Given the description of an element on the screen output the (x, y) to click on. 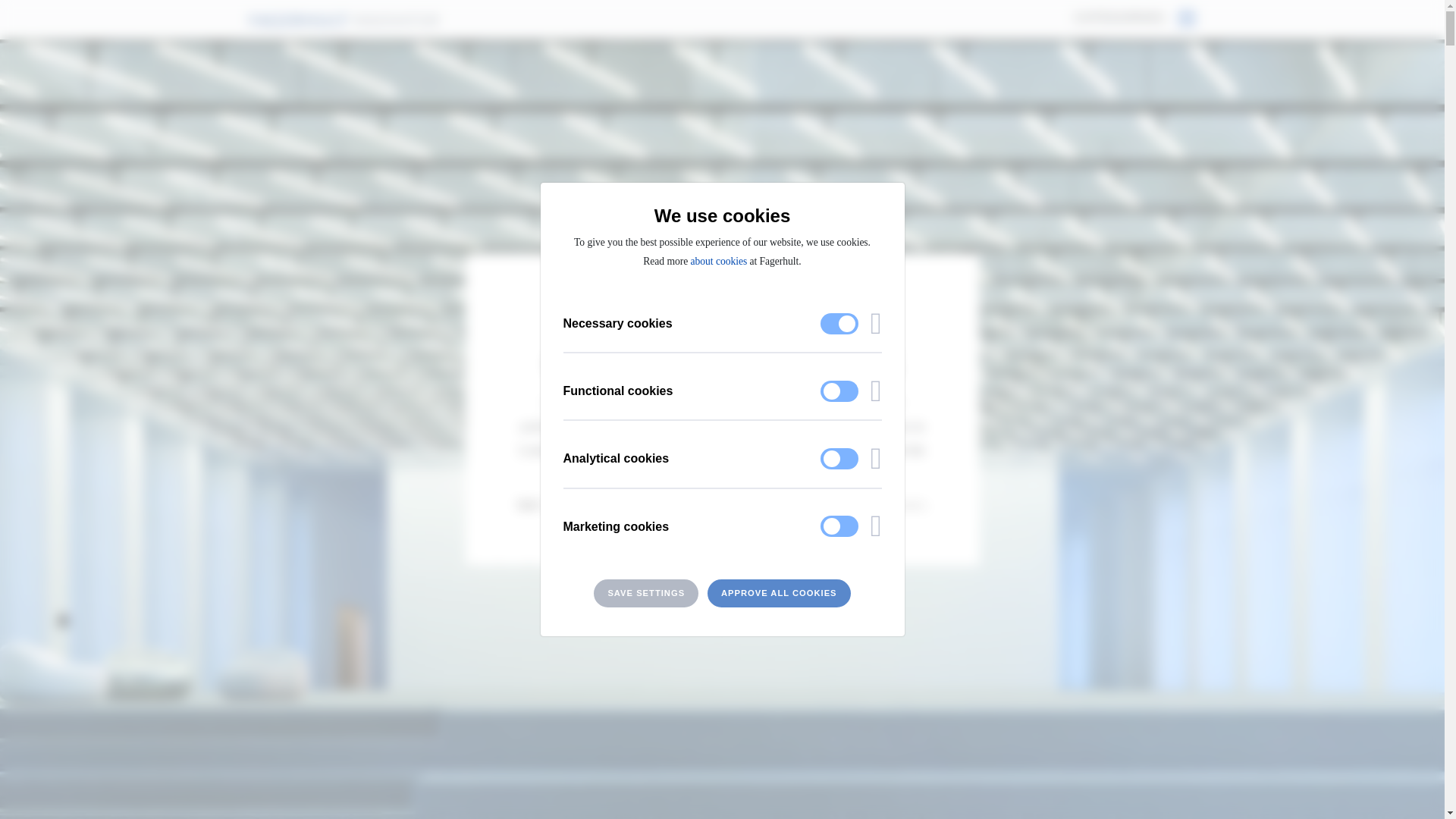
about cookies (719, 260)
Cannot be disabled (840, 323)
Analytical cookies (721, 457)
SAVE SETTINGS (646, 593)
APPROVE ALL COOKIES (778, 593)
Necessary cookies (721, 323)
Functional cookies (721, 390)
Marketing cookies (721, 526)
